Given the description of an element on the screen output the (x, y) to click on. 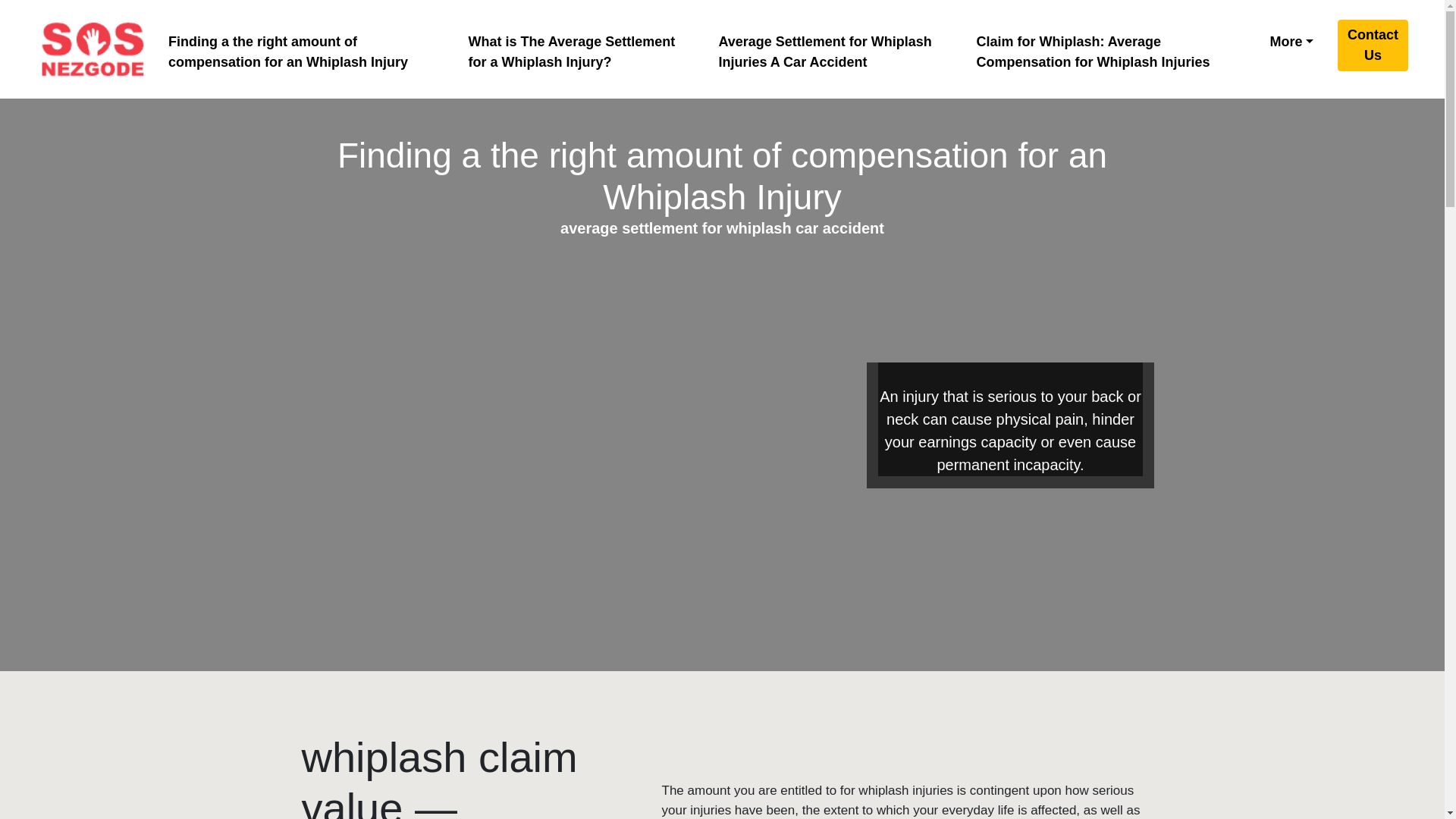
What is The Average Settlement for a Whiplash Injury? (577, 51)
Average Settlement for Whiplash Injuries A Car Accident (831, 51)
average settlement for whiplash car accident (92, 48)
More (1291, 41)
